Given the description of an element on the screen output the (x, y) to click on. 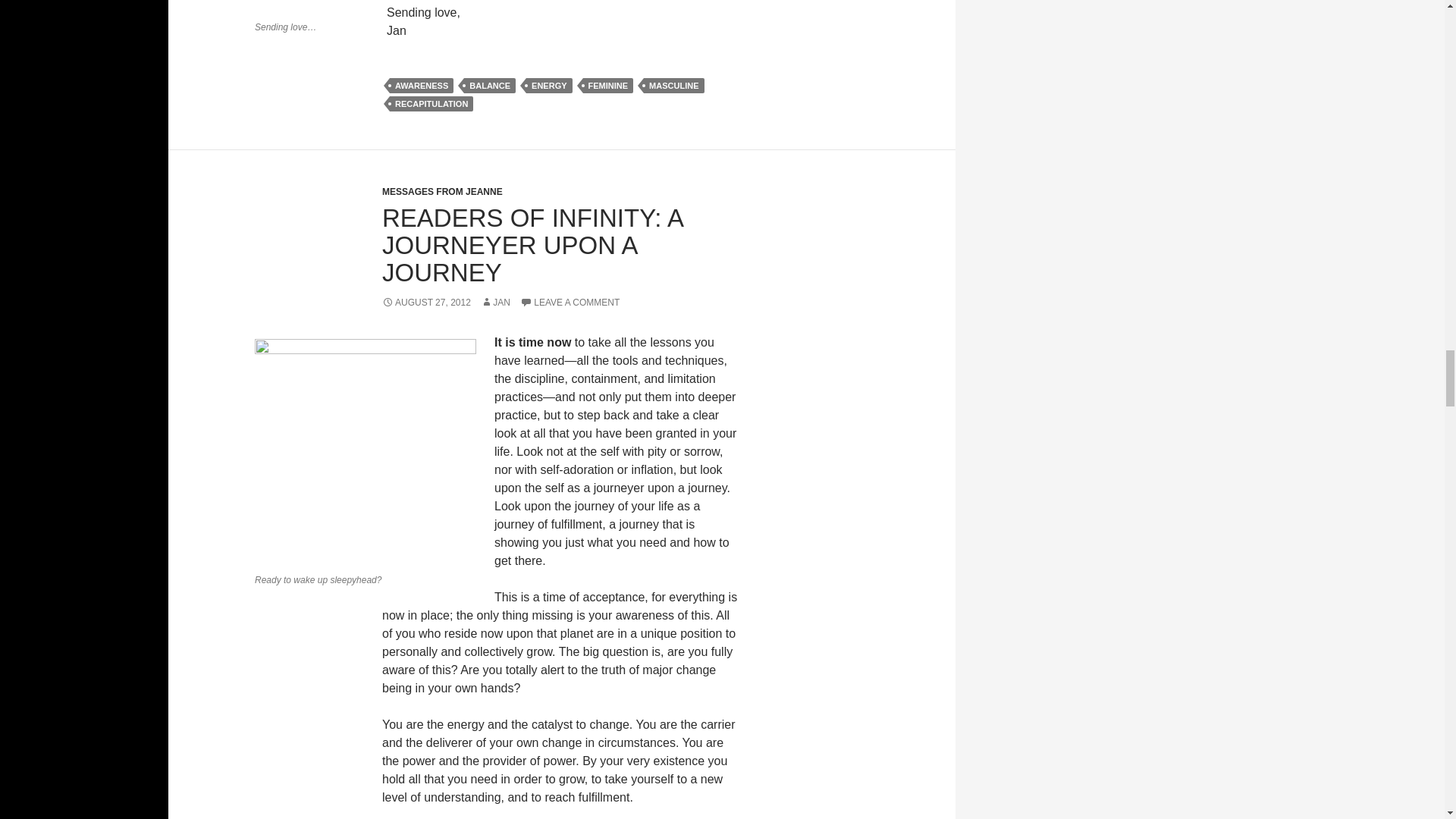
Photo by Jan (365, 452)
Photo by Chuck (311, 6)
